Given the description of an element on the screen output the (x, y) to click on. 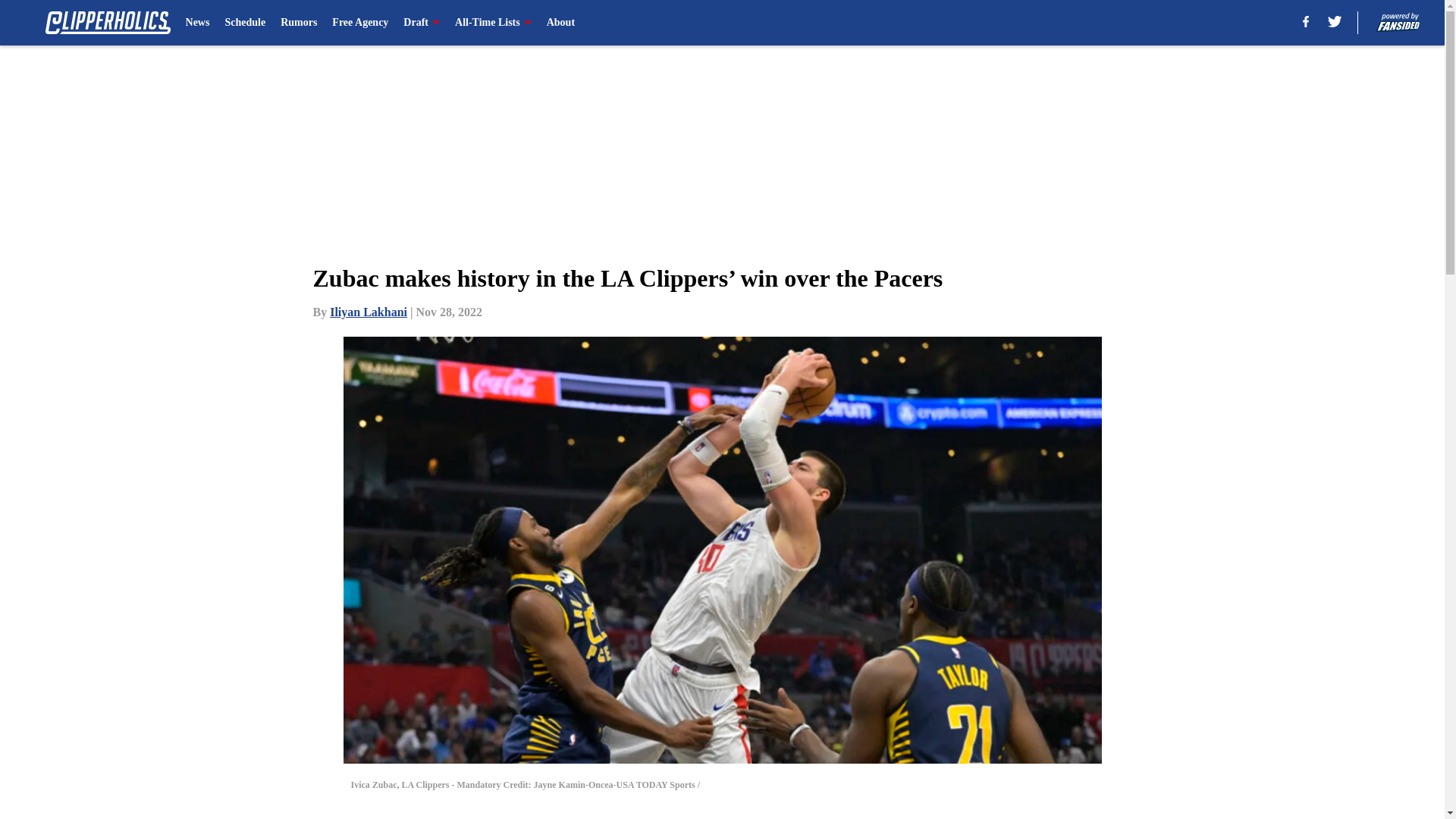
News (197, 22)
Rumors (299, 22)
Draft (421, 22)
About (561, 22)
All-Time Lists (492, 22)
Free Agency (359, 22)
Schedule (244, 22)
Iliyan Lakhani (368, 311)
